Given the description of an element on the screen output the (x, y) to click on. 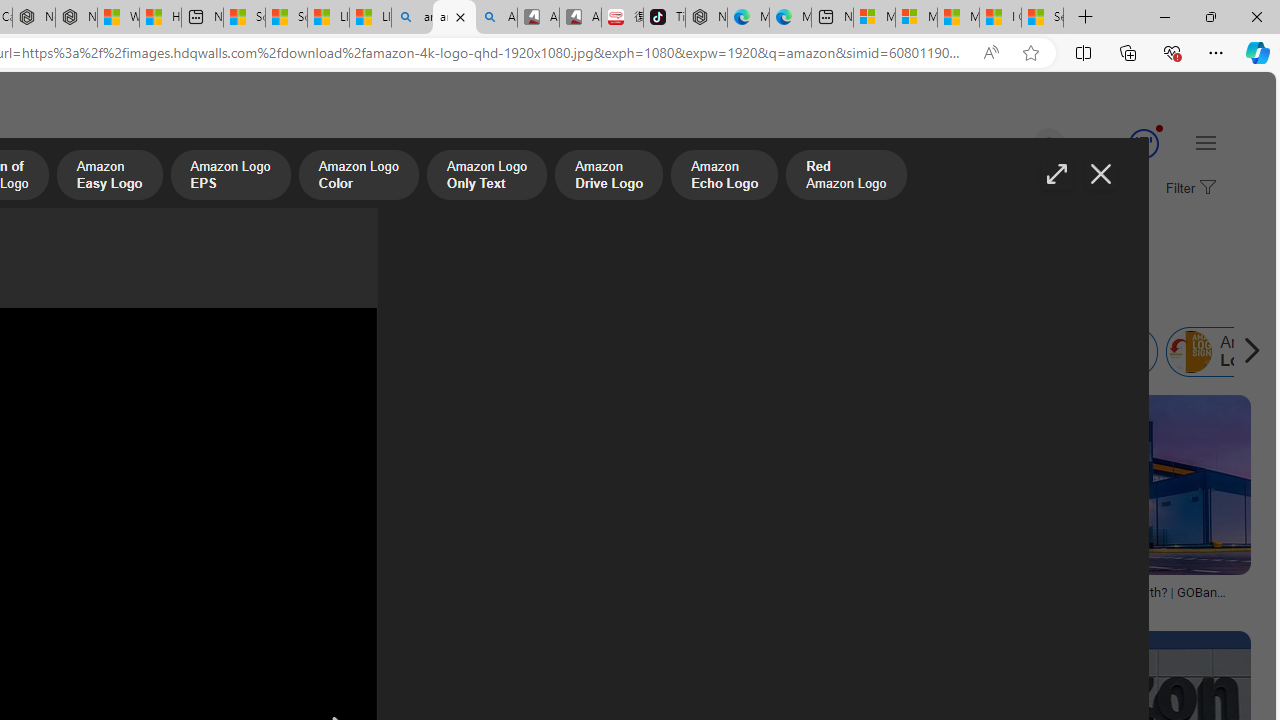
Red Amazon Logo (845, 177)
hdqwalls.com (704, 605)
Amazon Package (1042, 351)
Amazon Logo EPS (230, 177)
Amazon Spain (759, 351)
Amazon.com.au (343, 351)
Amazon Login (1191, 351)
GOBankingRates (1103, 606)
Eugene (1019, 143)
